Given the description of an element on the screen output the (x, y) to click on. 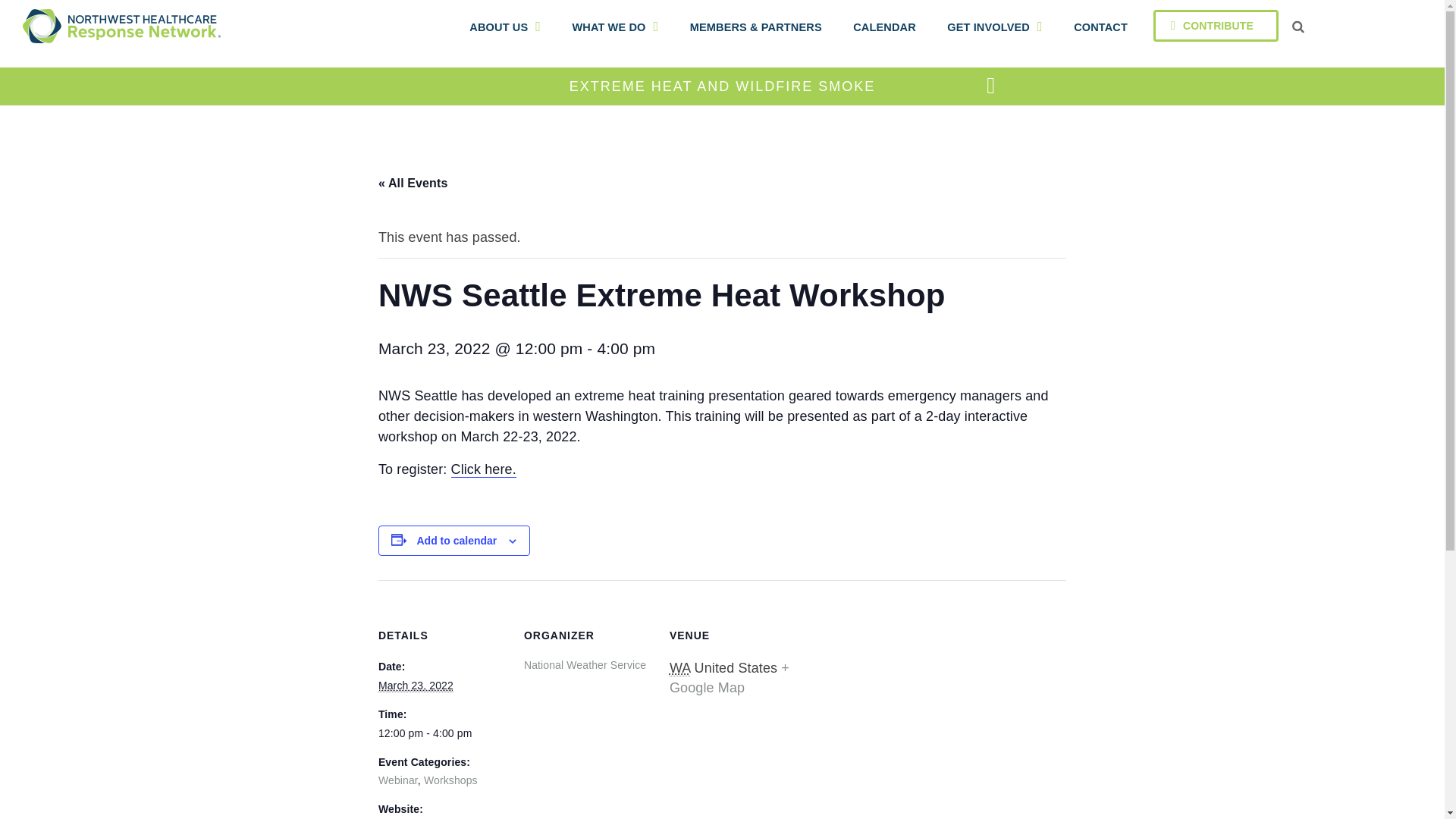
GET INVOLVED (994, 28)
WHAT WE DO (615, 28)
Google maps iframe displaying the address to  (895, 684)
Click to view a Google Map (729, 677)
CONTACT (1100, 28)
National Weather Service (585, 664)
CALENDAR (884, 28)
ABOUT US (504, 28)
Workshops (450, 779)
Add to calendar (456, 540)
National Weather Service (585, 664)
Washington (679, 668)
2022-03-23 (415, 685)
Click here. (483, 469)
Webinar (397, 779)
